Given the description of an element on the screen output the (x, y) to click on. 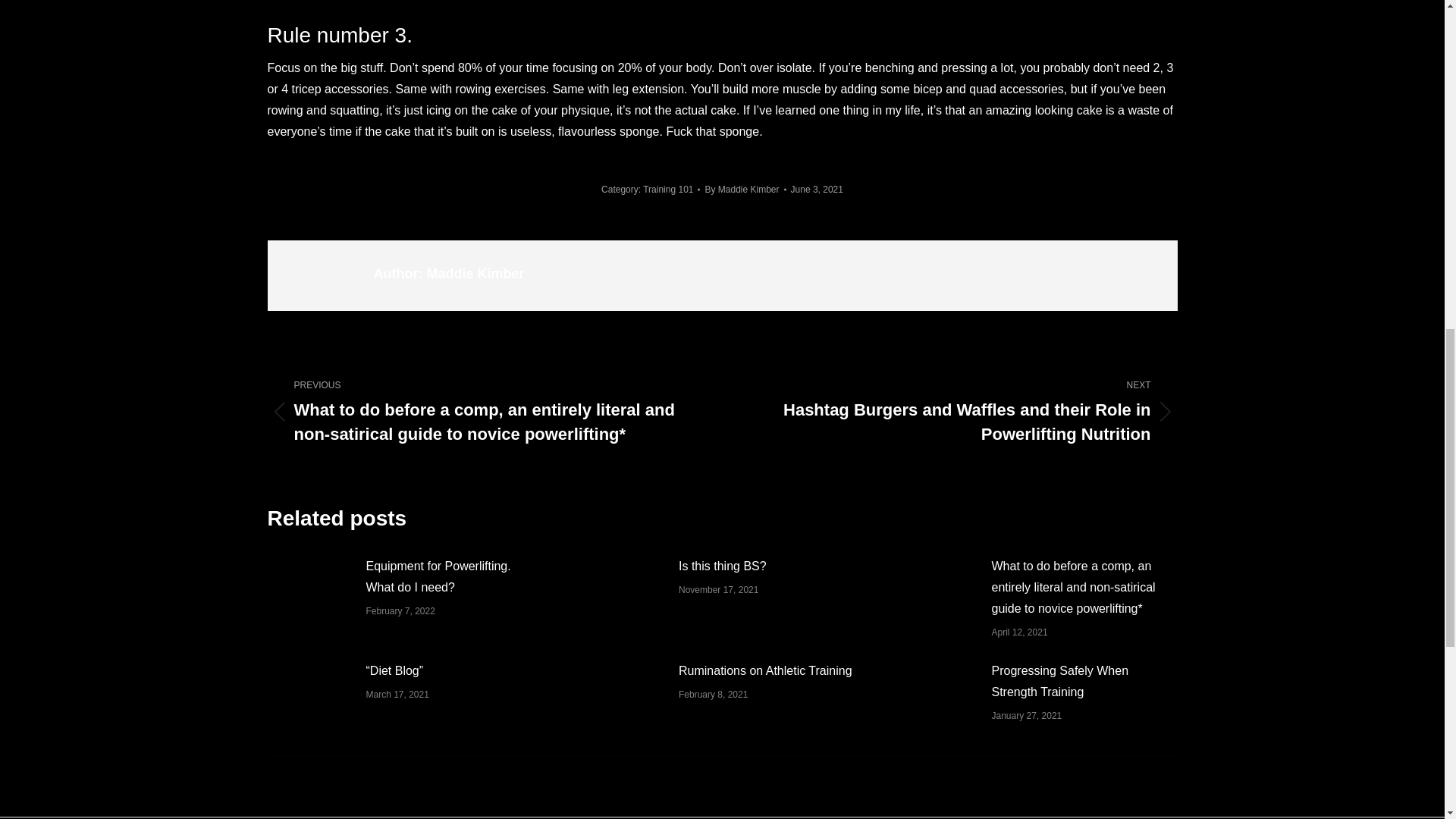
View all posts by Maddie Kimber (745, 189)
2:04 pm (816, 189)
Equipment for Powerlifting. What do I need? (453, 577)
By Maddie Kimber (745, 189)
Is this thing BS? (722, 566)
Training 101 (668, 189)
June 3, 2021 (816, 189)
